Given the description of an element on the screen output the (x, y) to click on. 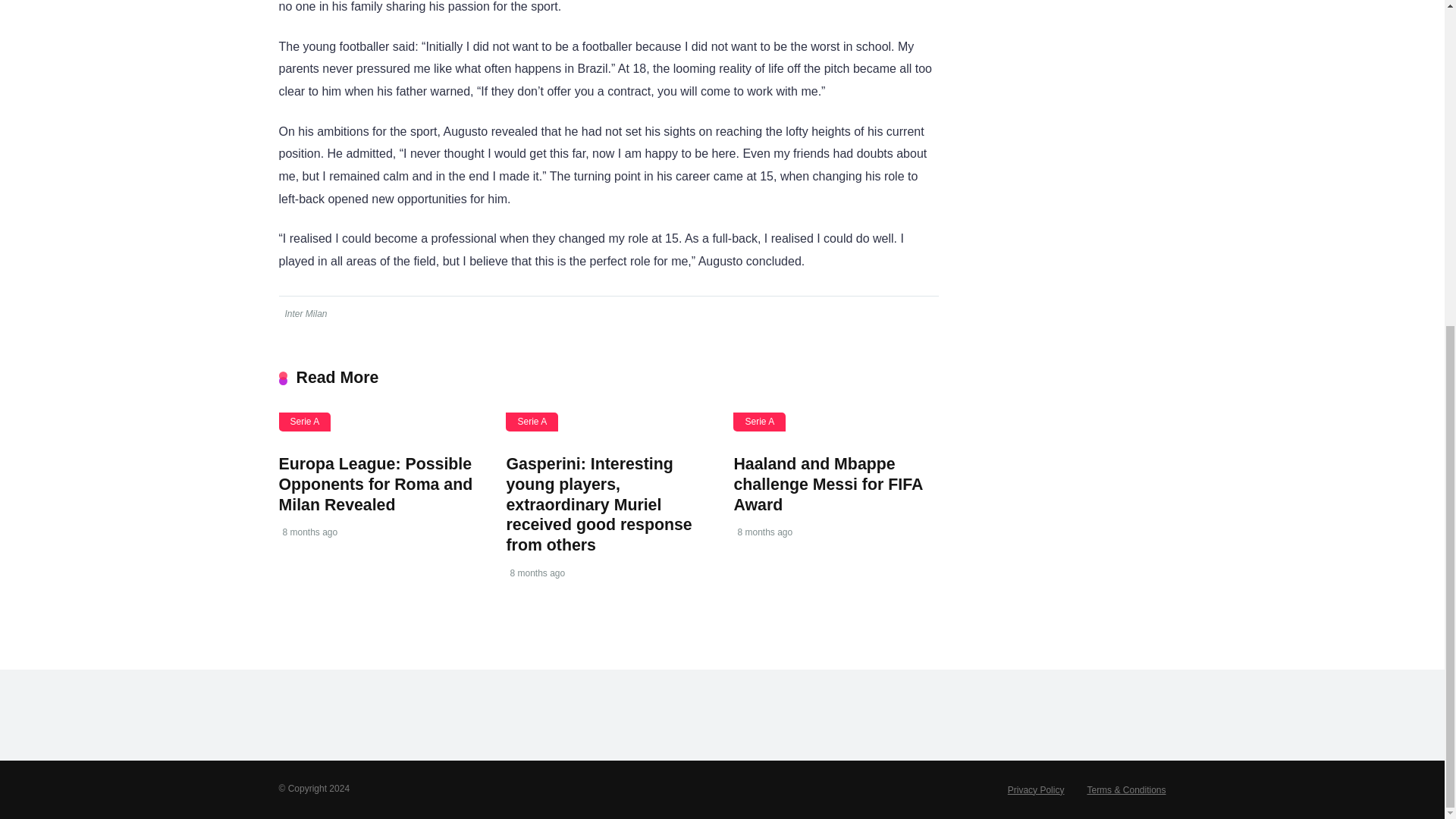
Haaland and Mbappe challenge Messi for FIFA Award (827, 484)
Serie A (759, 421)
Privacy Policy (1035, 789)
Haaland and Mbappe challenge Messi for FIFA Award (827, 484)
Serie A (531, 421)
Serie A (305, 421)
